Given the description of an element on the screen output the (x, y) to click on. 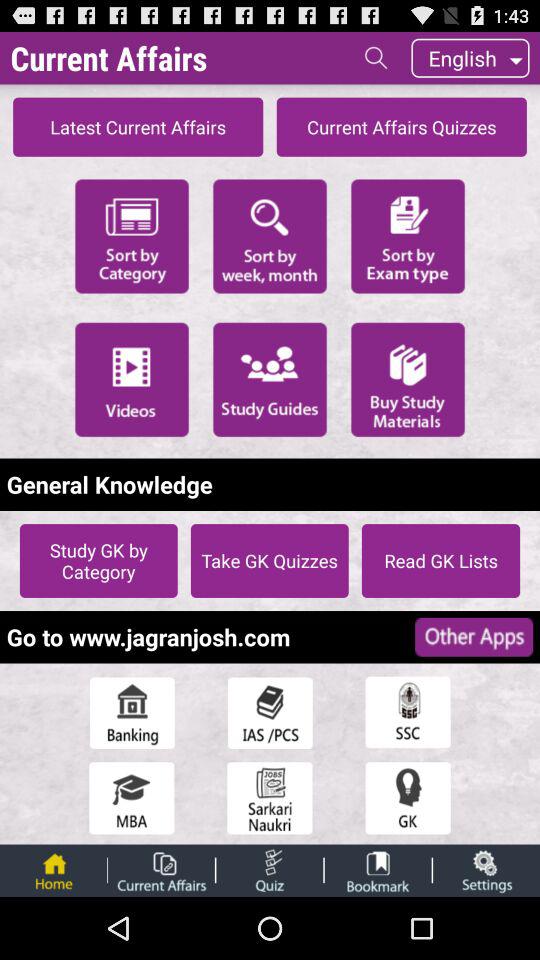
sort (269, 234)
